Given the description of an element on the screen output the (x, y) to click on. 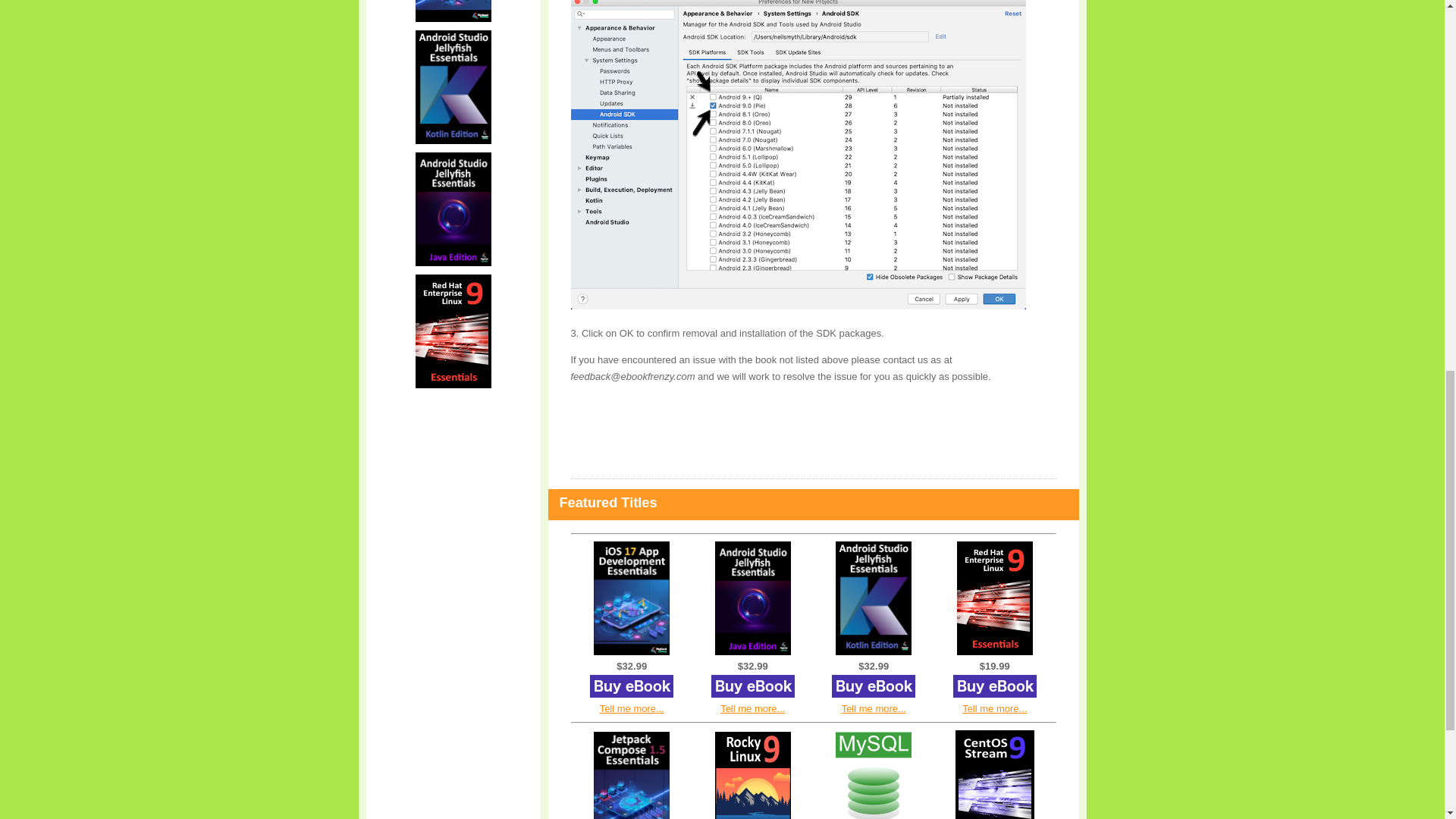
Tell me more... (752, 708)
Tell me more... (994, 708)
Tell me more... (873, 708)
Tell me more... (631, 708)
